Given the description of an element on the screen output the (x, y) to click on. 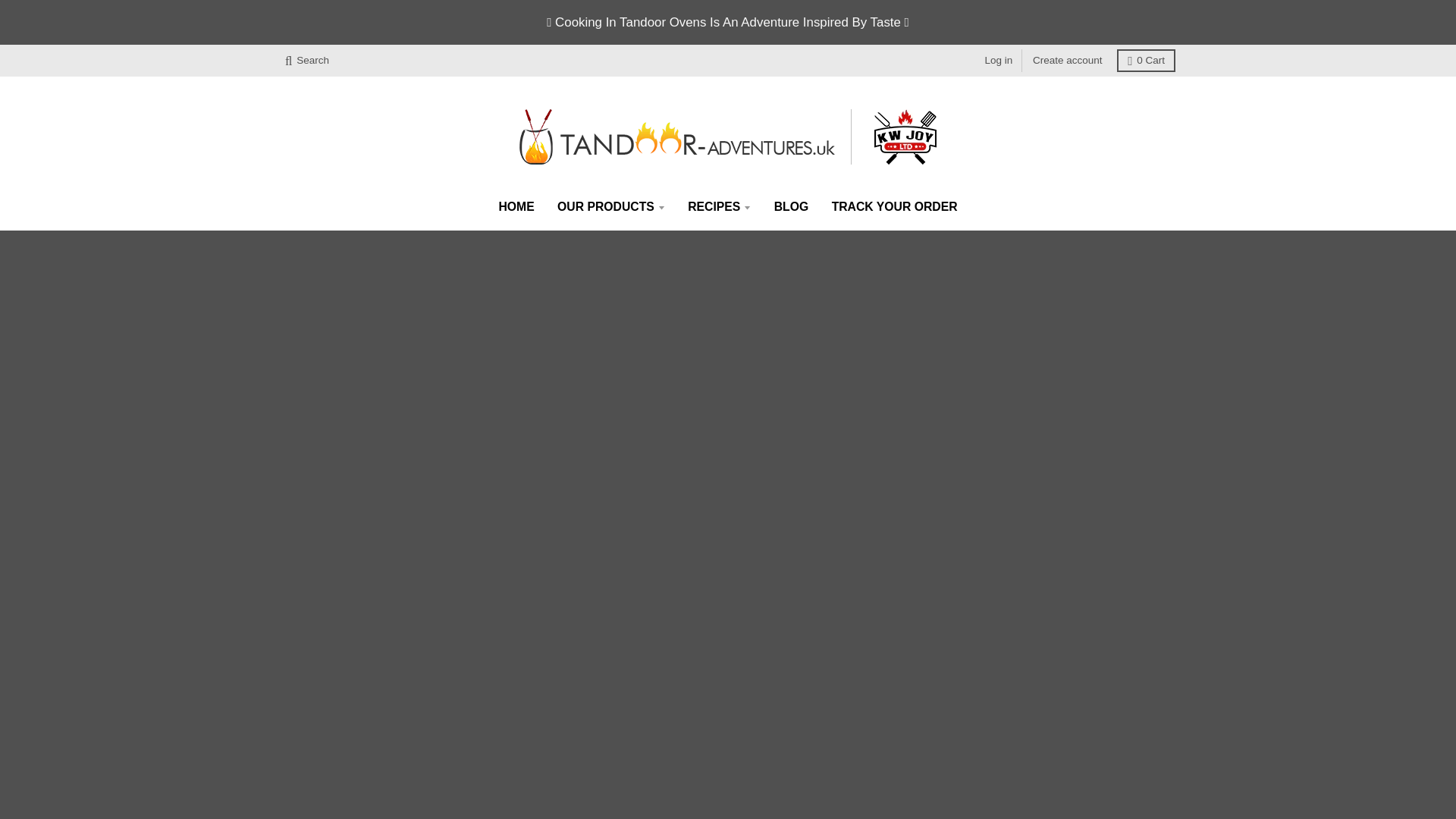
OUR PRODUCTS (611, 206)
Log in (997, 60)
Search (307, 60)
BLOG (791, 206)
Create account (1066, 60)
HOME (515, 206)
RECIPES (719, 206)
TRACK YOUR ORDER (895, 206)
0 Cart (1145, 60)
